Given the description of an element on the screen output the (x, y) to click on. 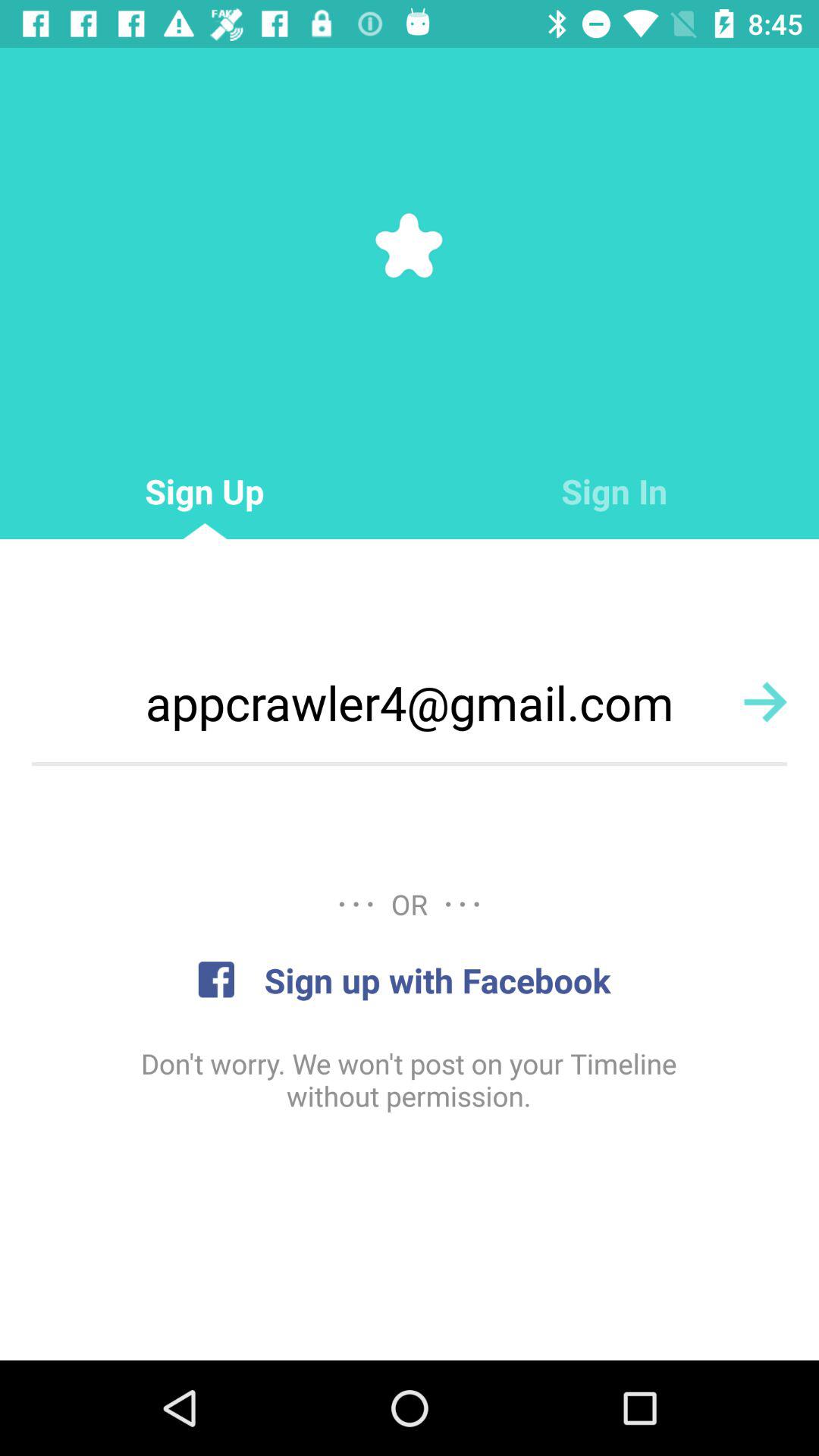
choose the appcrawler4@gmail.com item (409, 702)
